Given the description of an element on the screen output the (x, y) to click on. 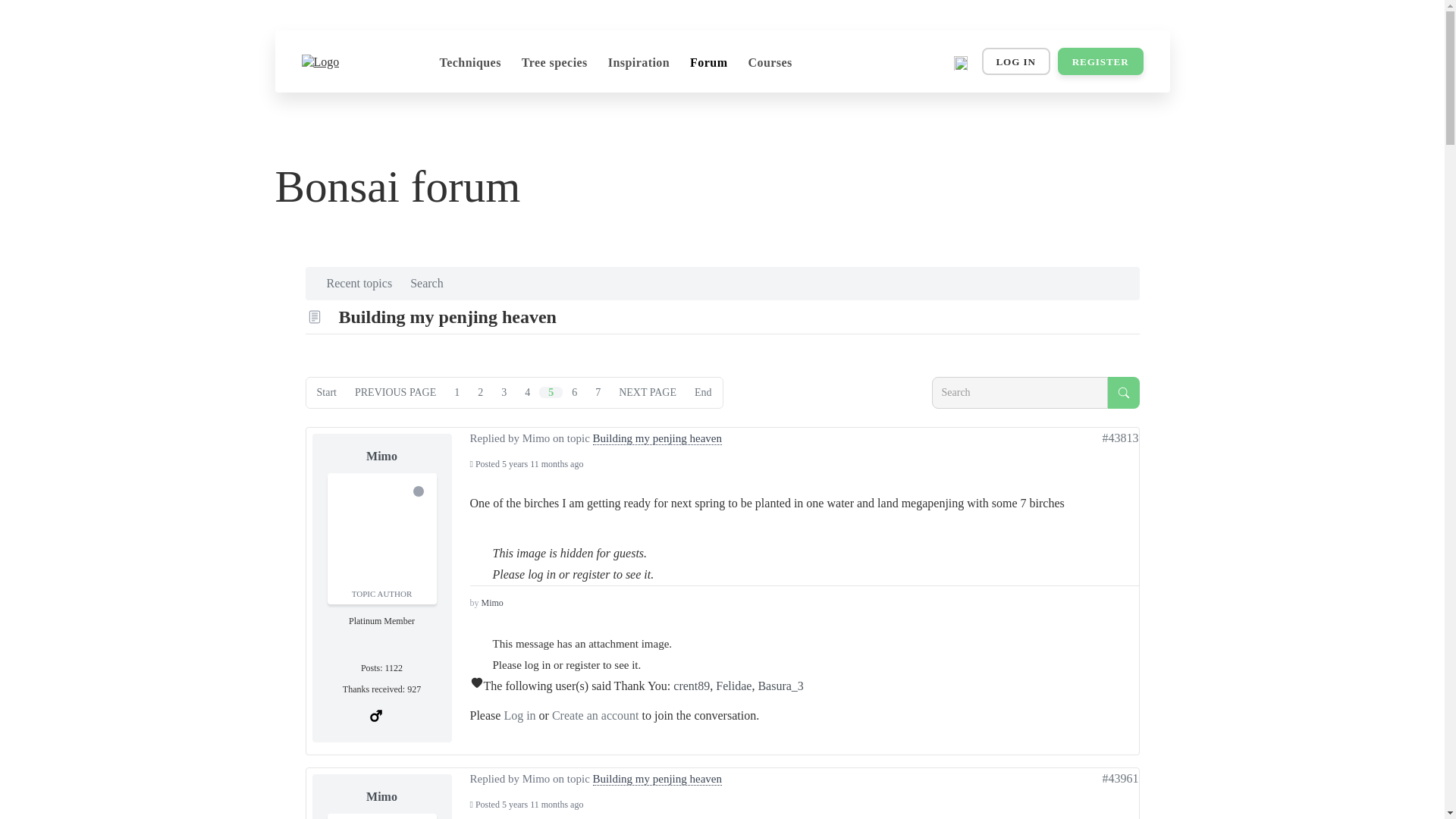
Page:1 (456, 392)
Page:6 (574, 392)
Page:7 (598, 392)
Page:4 (526, 392)
Page:2 (480, 392)
Page:Start (326, 392)
Page:PREVIOUS PAGE (395, 392)
Page:NEXT PAGE (647, 392)
Tree species (554, 62)
Page:End (702, 392)
Page:3 (503, 392)
Techniques (469, 62)
